Given the description of an element on the screen output the (x, y) to click on. 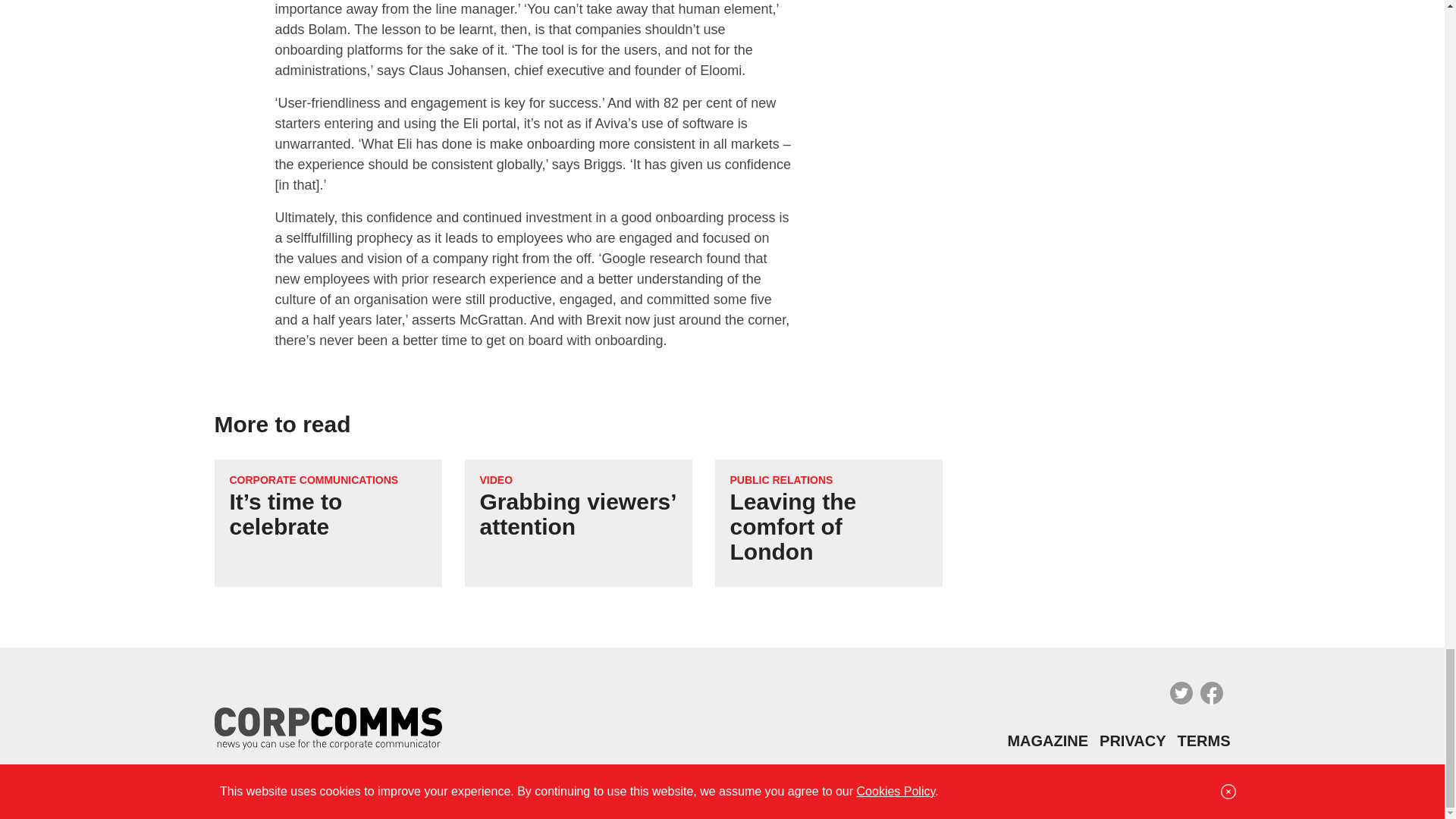
CORPORATE COMMUNICATIONS (312, 479)
Leaving the comfort of London (792, 526)
VIDEO (495, 479)
PUBLIC RELATIONS (780, 479)
